Given the description of an element on the screen output the (x, y) to click on. 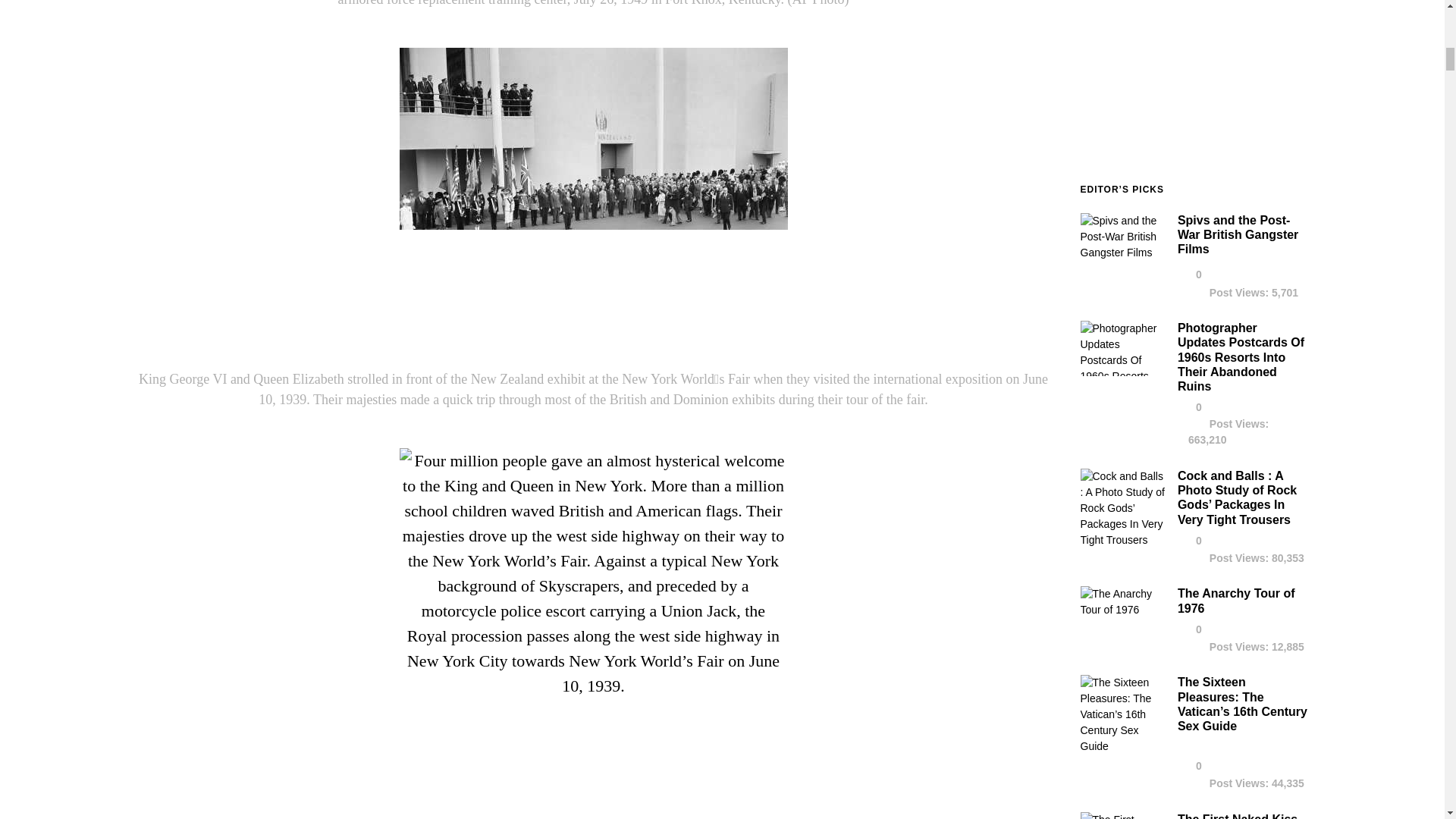
Read More (1240, 357)
Read More (1237, 497)
Read More (1237, 234)
Spivs and the Post-War British Gangster Films (1123, 255)
